Given the description of an element on the screen output the (x, y) to click on. 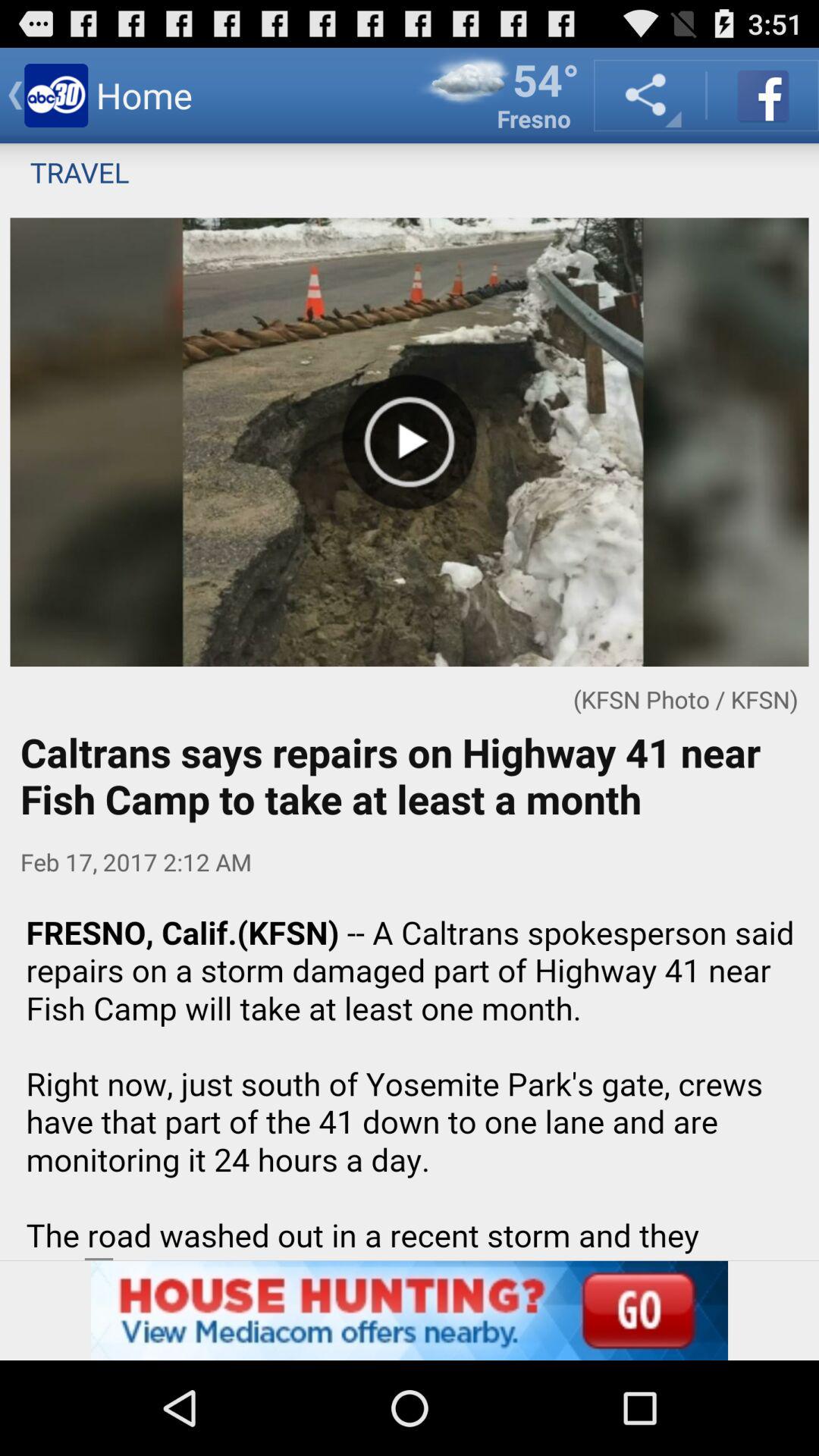
advertisement page (409, 1310)
